Given the description of an element on the screen output the (x, y) to click on. 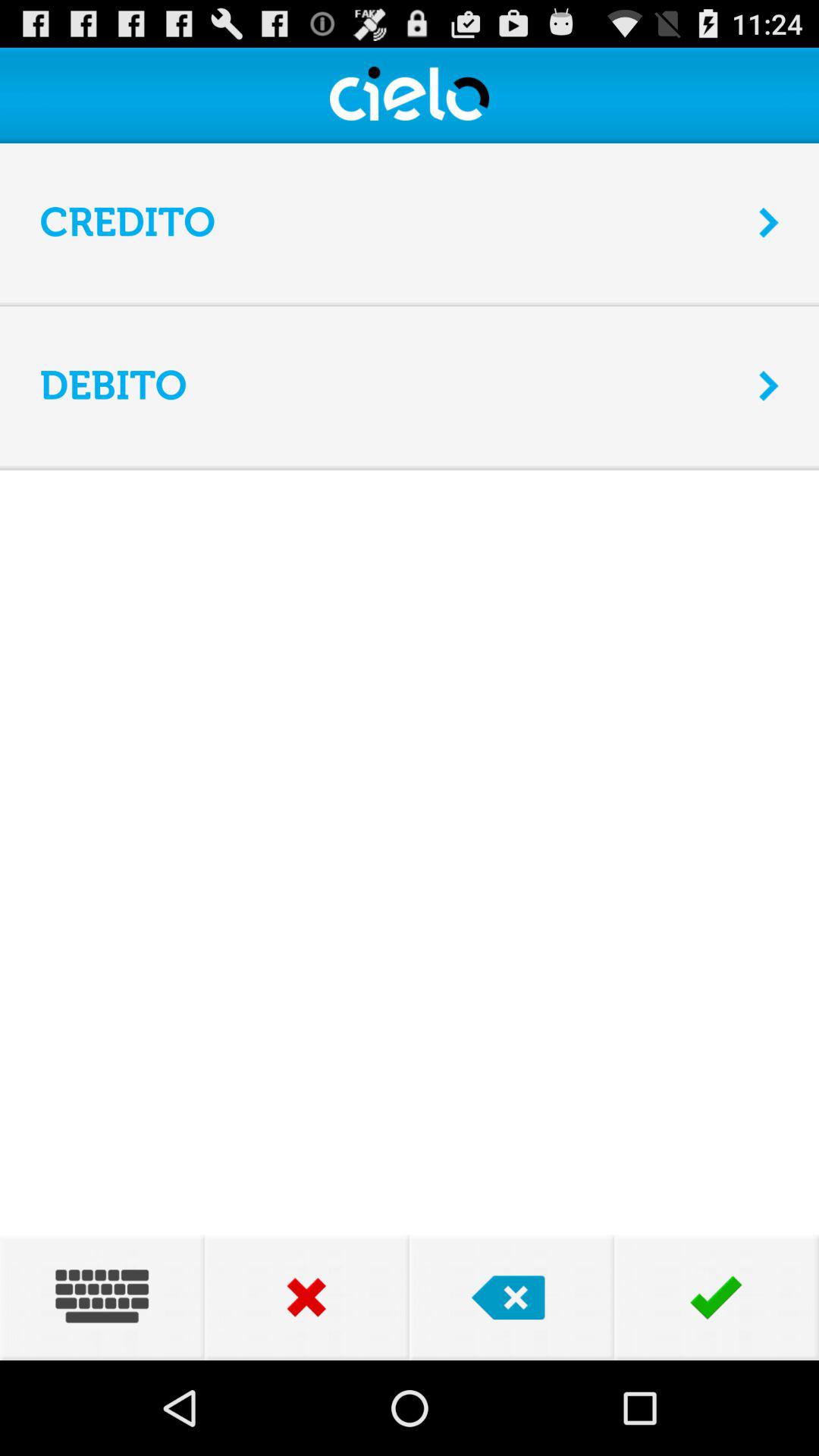
open the icon to the right of credito icon (769, 222)
